Given the description of an element on the screen output the (x, y) to click on. 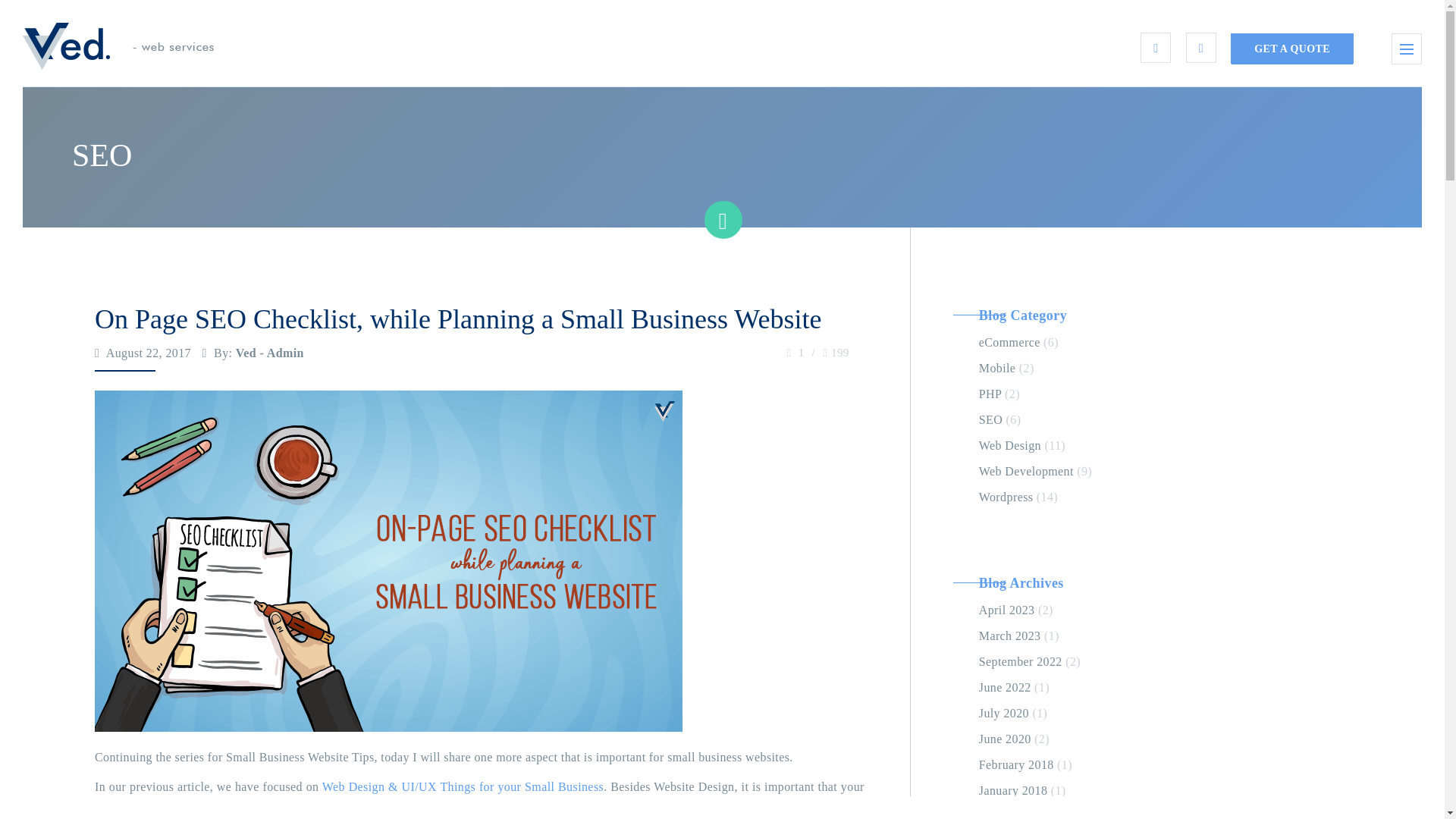
Ved Web Services (118, 45)
Skype : vishalmba08 (1155, 47)
Get A Quote (1292, 48)
1 (796, 352)
199 (835, 352)
GET A QUOTE (1292, 48)
Submit (654, 474)
